Given the description of an element on the screen output the (x, y) to click on. 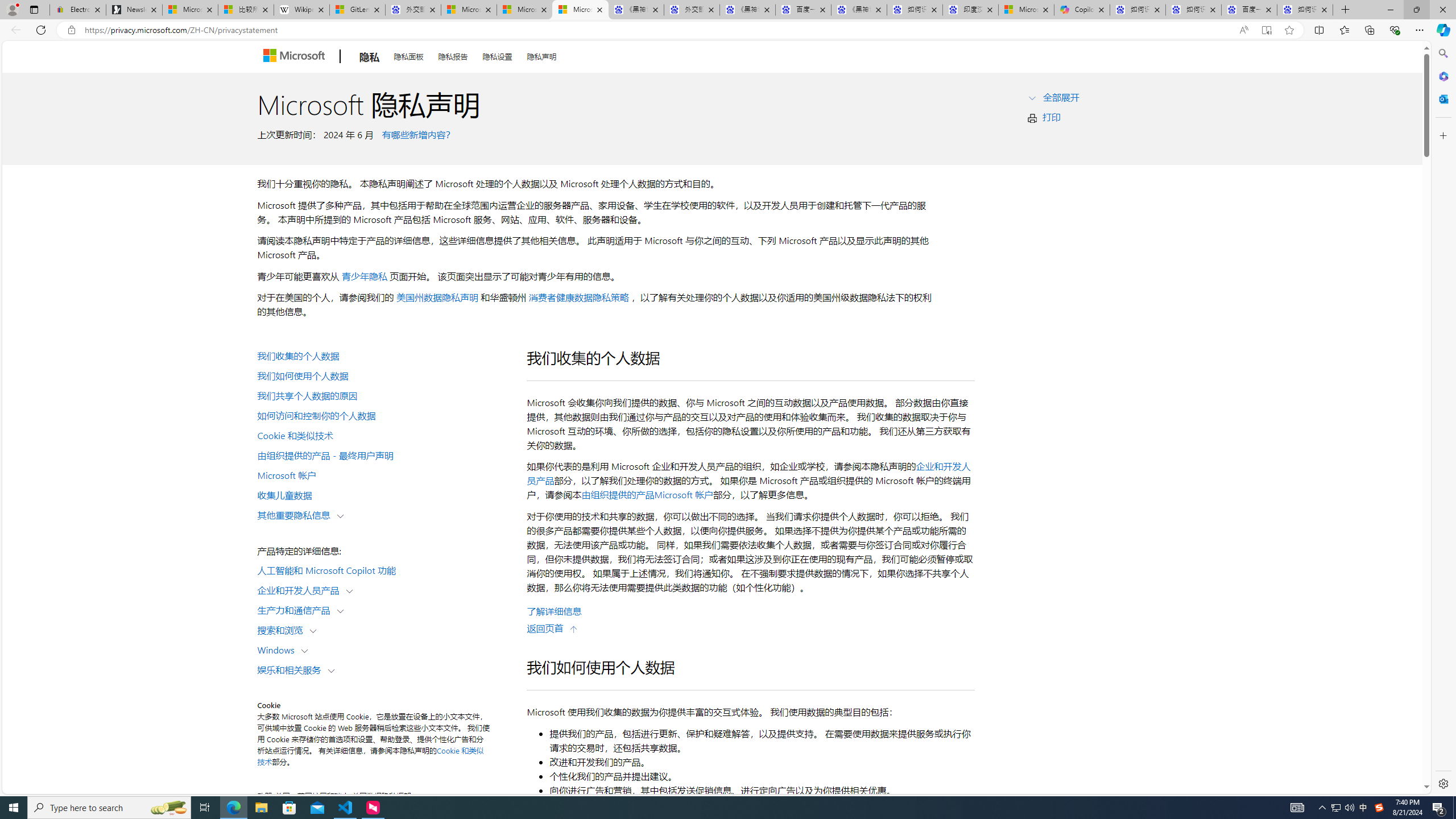
Windows (278, 649)
